Given the description of an element on the screen output the (x, y) to click on. 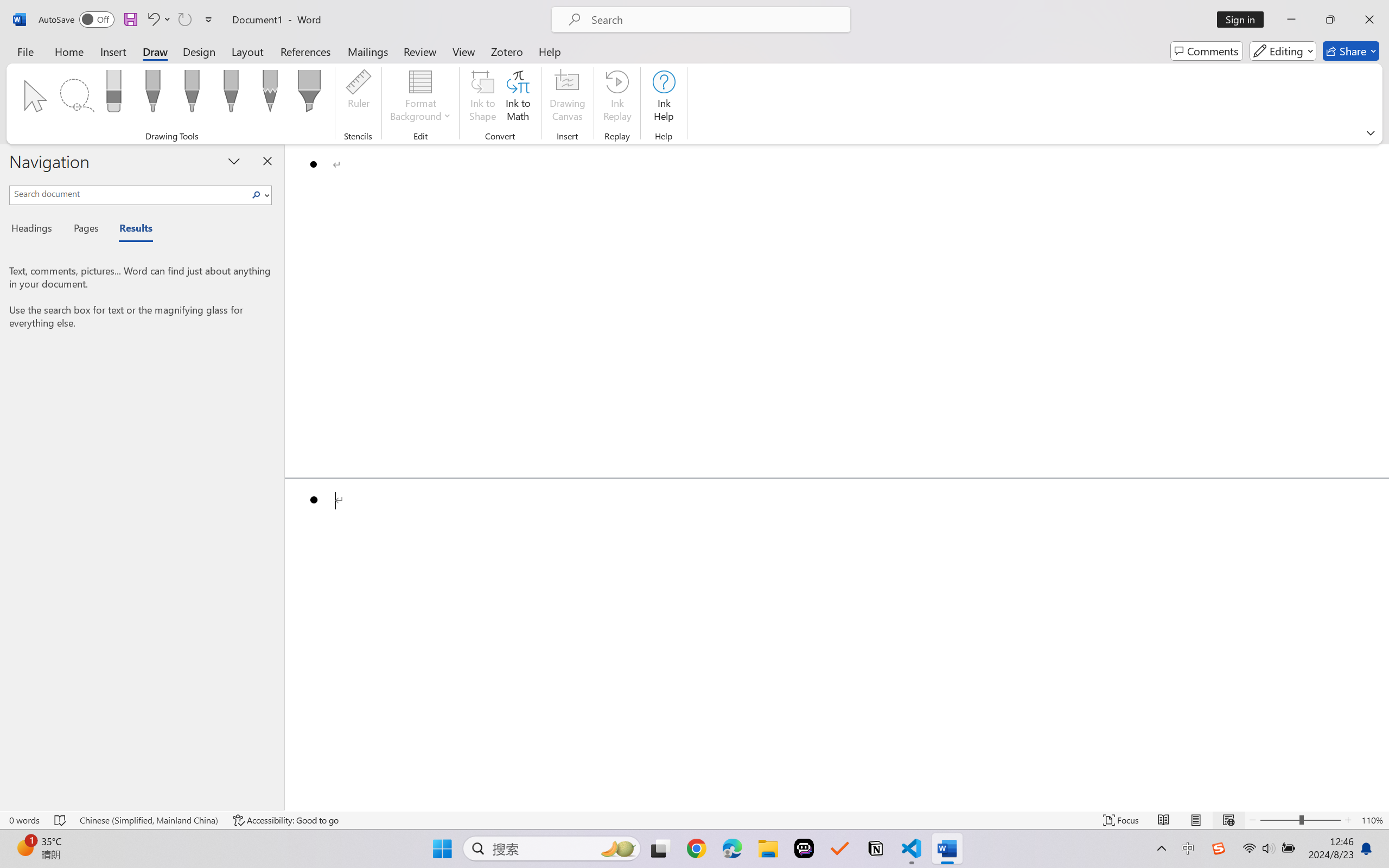
Format Background (420, 97)
Results (130, 229)
Zoom 110% (1372, 819)
Pen: Red, 0.5 mm (191, 94)
